Given the description of an element on the screen output the (x, y) to click on. 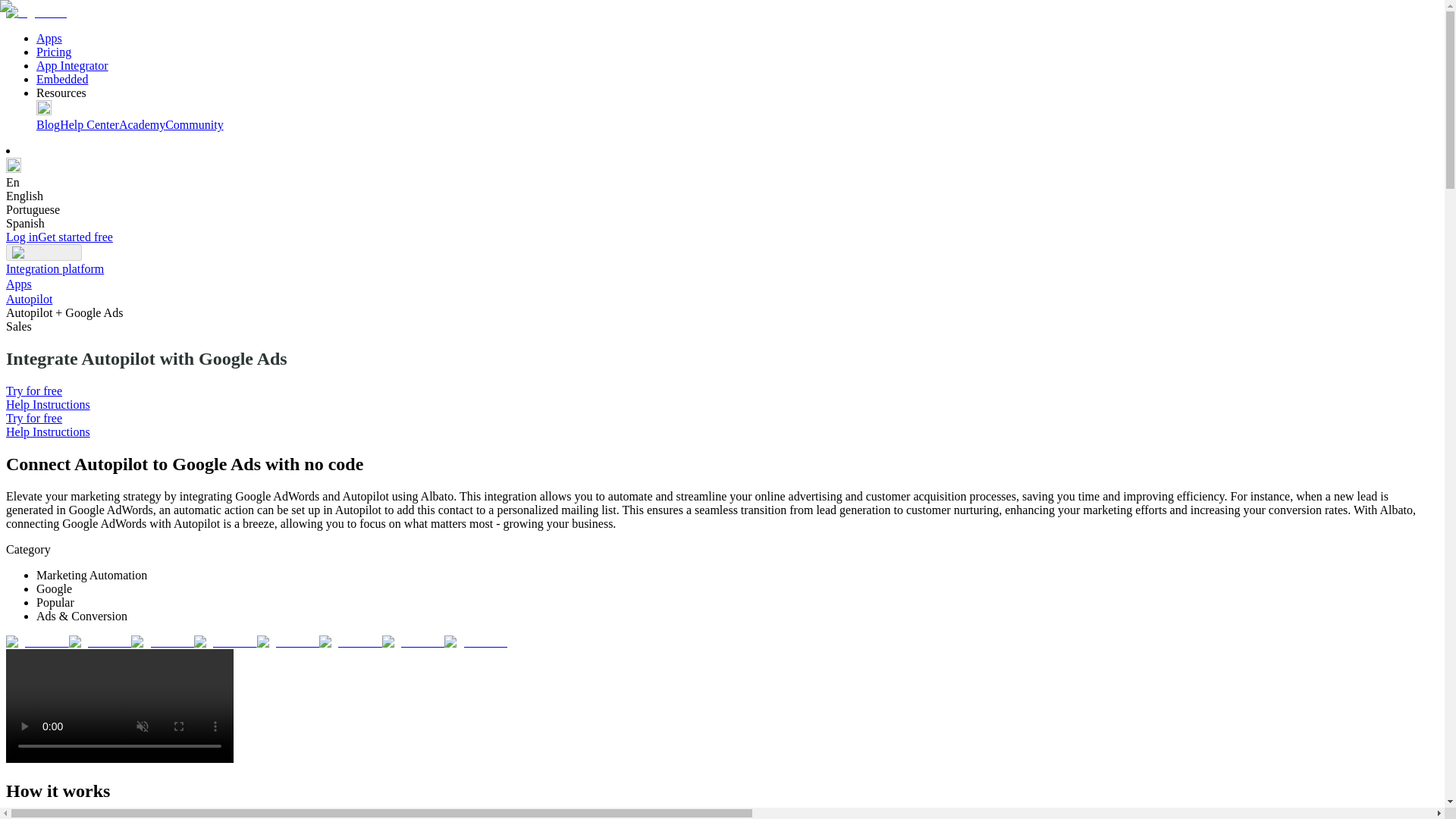
Help Instructions (47, 404)
button (43, 252)
Get started free (75, 236)
Blog (47, 124)
Integration platform (54, 268)
App Integrator (71, 65)
Try for free (33, 418)
Log in (21, 236)
Autopilot (28, 298)
Embedded (61, 78)
Apps (49, 38)
Help Center (89, 124)
Apps (18, 283)
Academy (142, 124)
Help Instructions (47, 431)
